Given the description of an element on the screen output the (x, y) to click on. 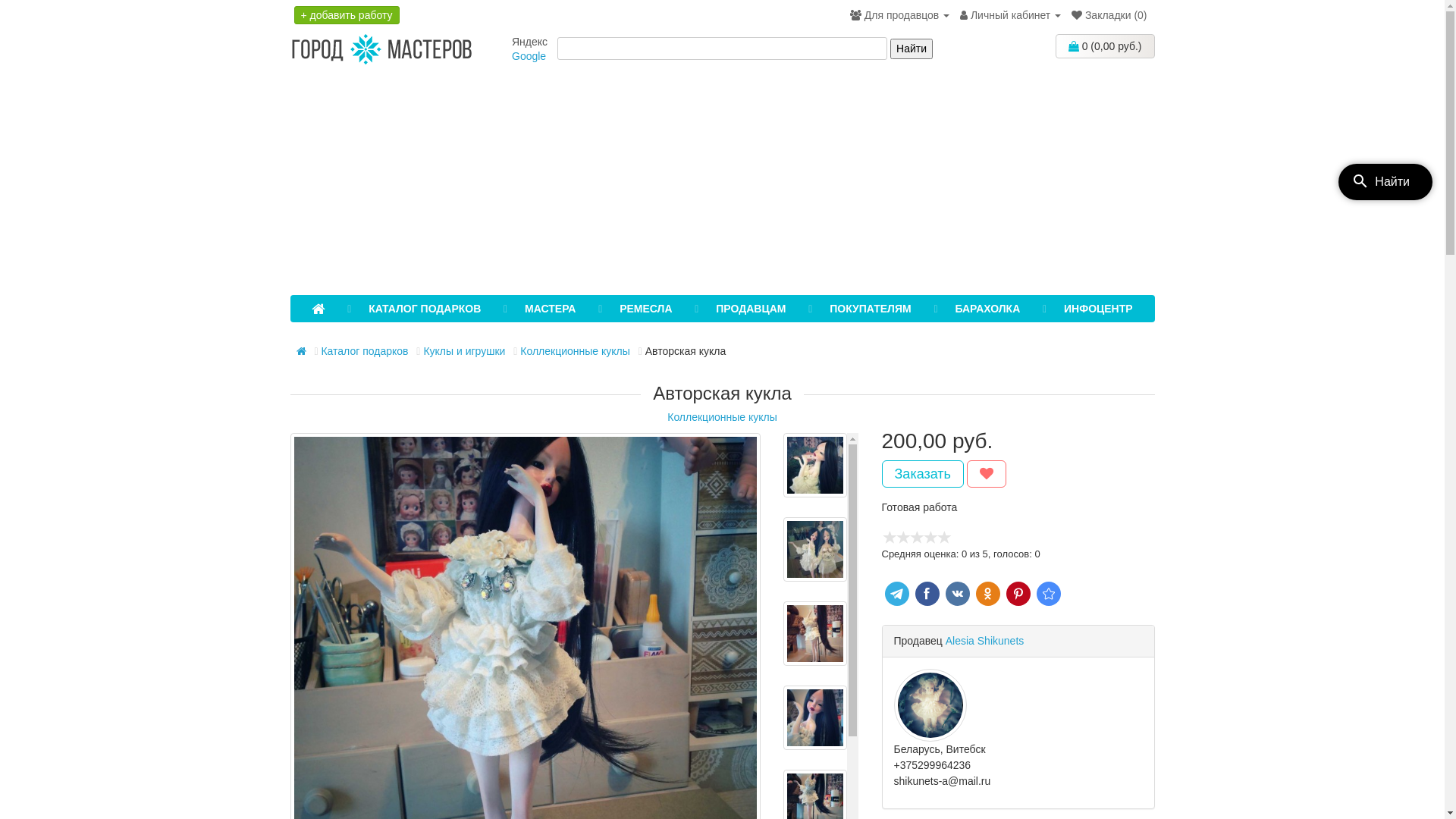
Alesia Shikunets Element type: text (984, 640)
Advertisement Element type: hover (721, 181)
Google Element type: text (528, 55)
